Given the description of an element on the screen output the (x, y) to click on. 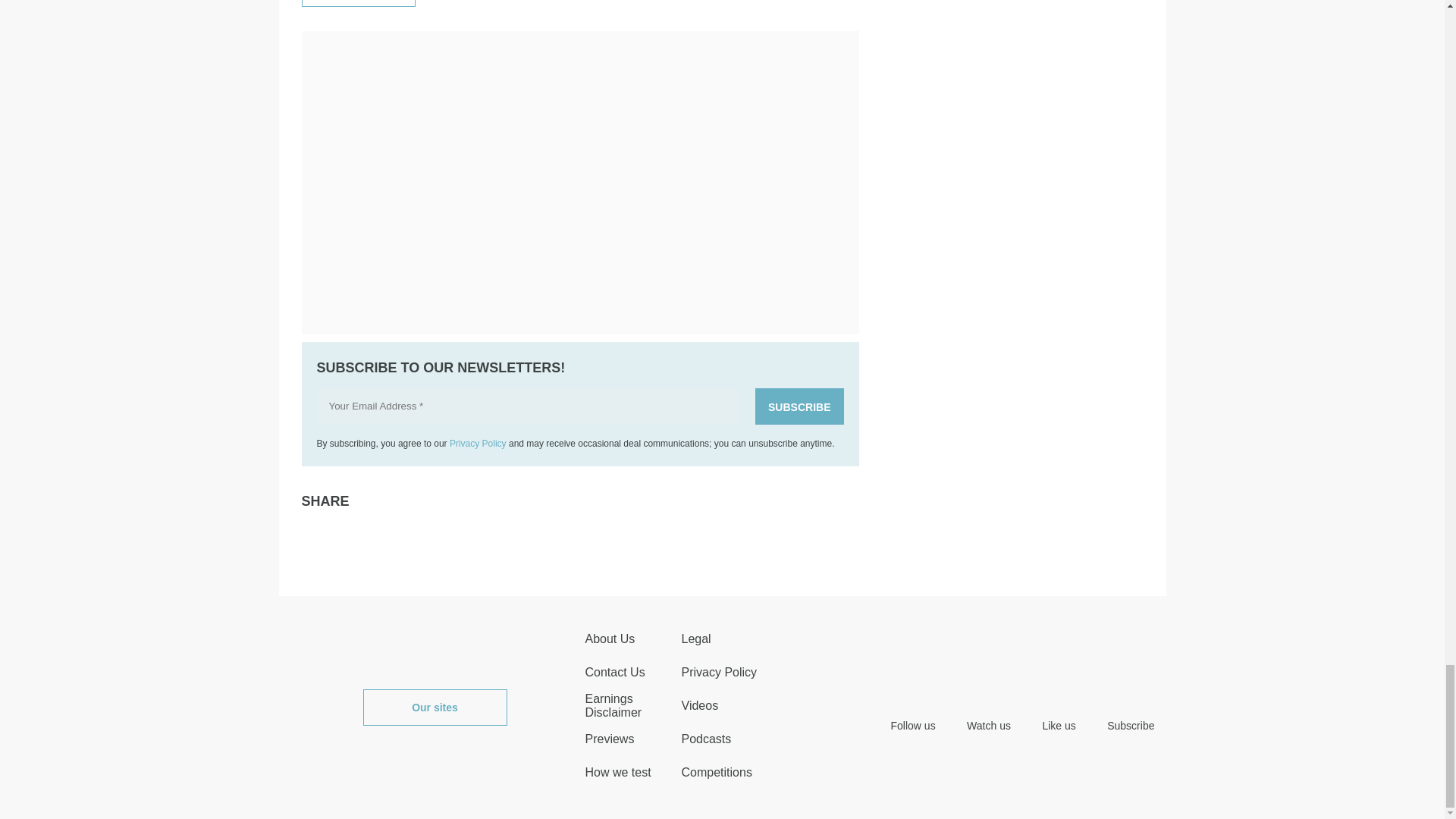
Skull and Bones (358, 0)
Privacy Policy (477, 443)
Subscribe (799, 406)
Subscribe (799, 406)
